Given the description of an element on the screen output the (x, y) to click on. 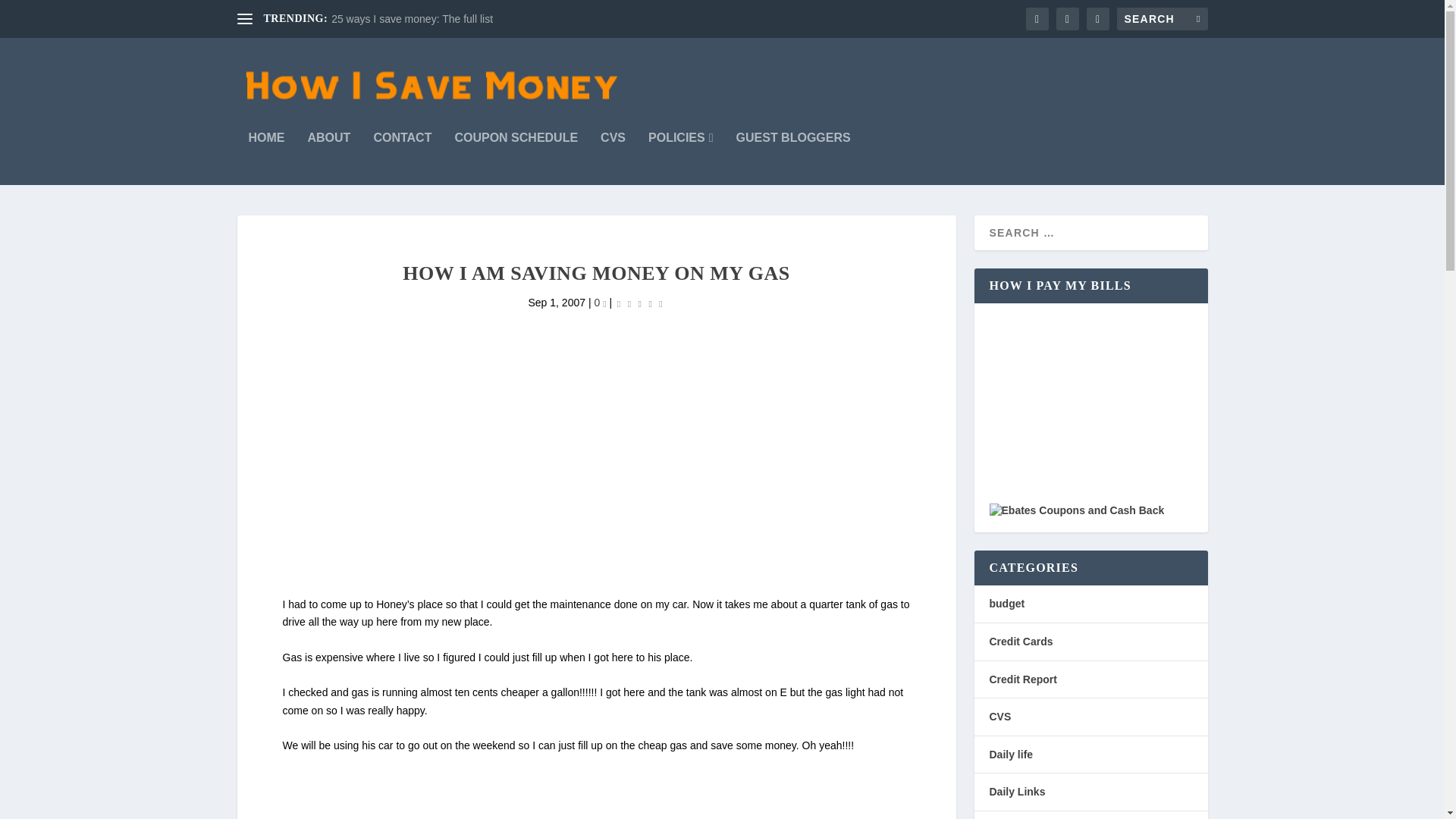
POLICIES (680, 158)
GUEST BLOGGERS (793, 158)
Advertisement (598, 487)
COUPON SCHEDULE (516, 158)
Search for: (1161, 18)
CONTACT (401, 158)
0 (599, 302)
25 ways I save money: The full list (412, 19)
Rating: 0.00 (639, 303)
Advertisement (596, 787)
